Given the description of an element on the screen output the (x, y) to click on. 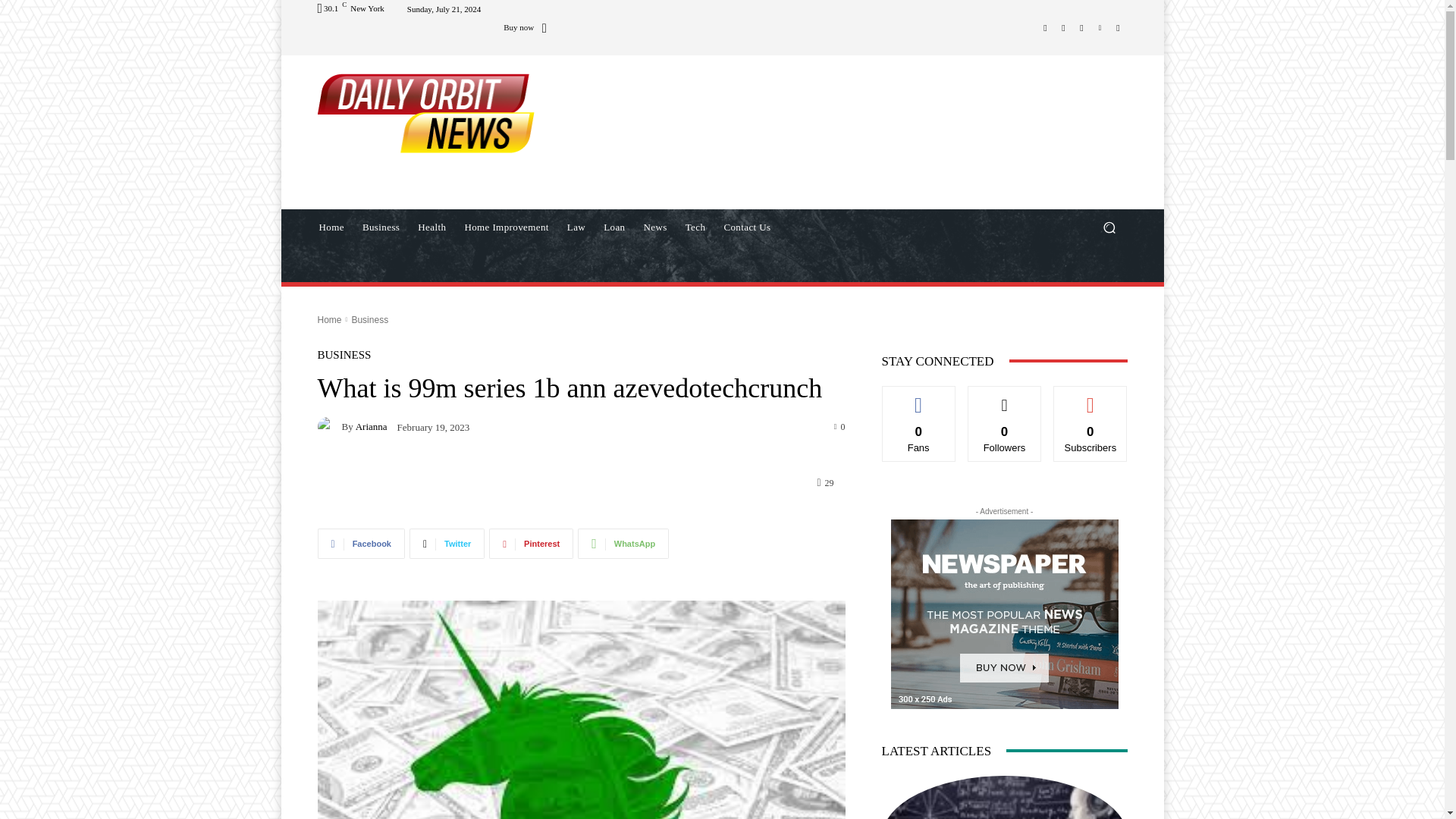
Home (330, 227)
Law (575, 227)
Loan (613, 227)
Vimeo (1099, 27)
Home Improvement (505, 227)
Health (431, 227)
News (654, 227)
Instagram (1062, 27)
Contact Us (746, 227)
Facebook (360, 543)
Twitter (446, 543)
Business (381, 227)
Youtube (1117, 27)
Tech (695, 227)
Twitter (1080, 27)
